Given the description of an element on the screen output the (x, y) to click on. 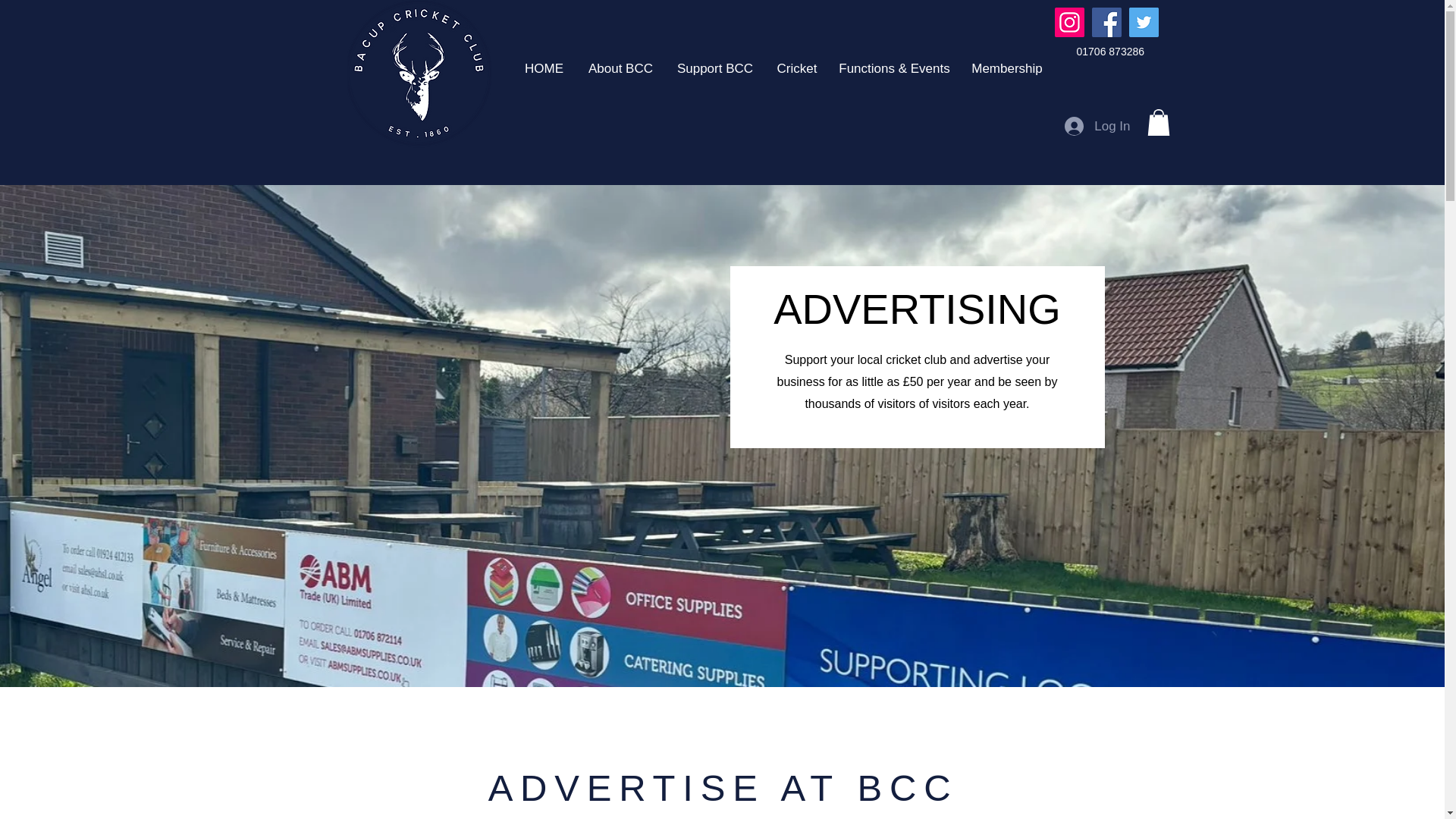
Log In (1097, 126)
HOME (544, 65)
Membership (1006, 65)
